Given the description of an element on the screen output the (x, y) to click on. 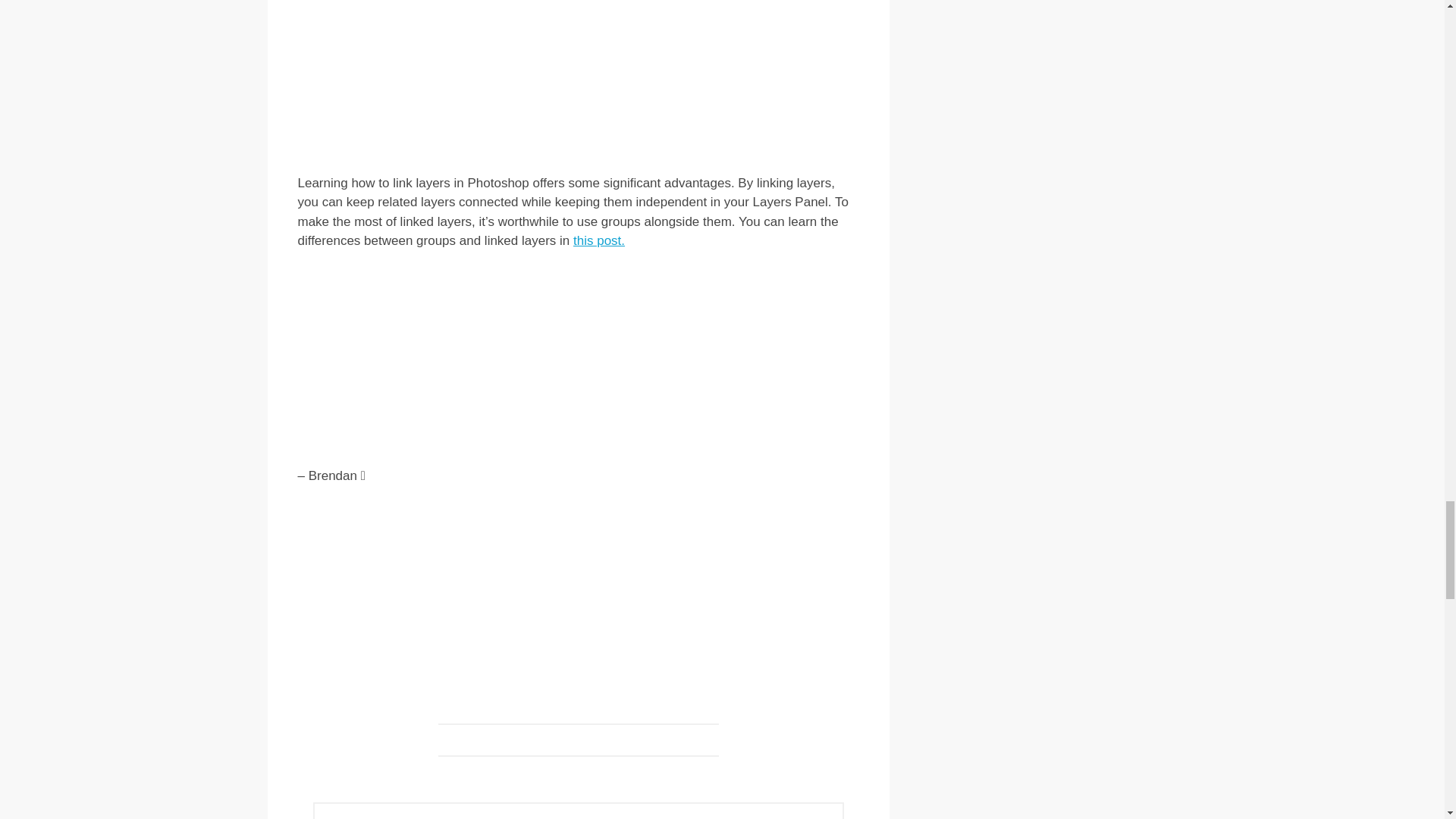
this post. (598, 240)
